Given the description of an element on the screen output the (x, y) to click on. 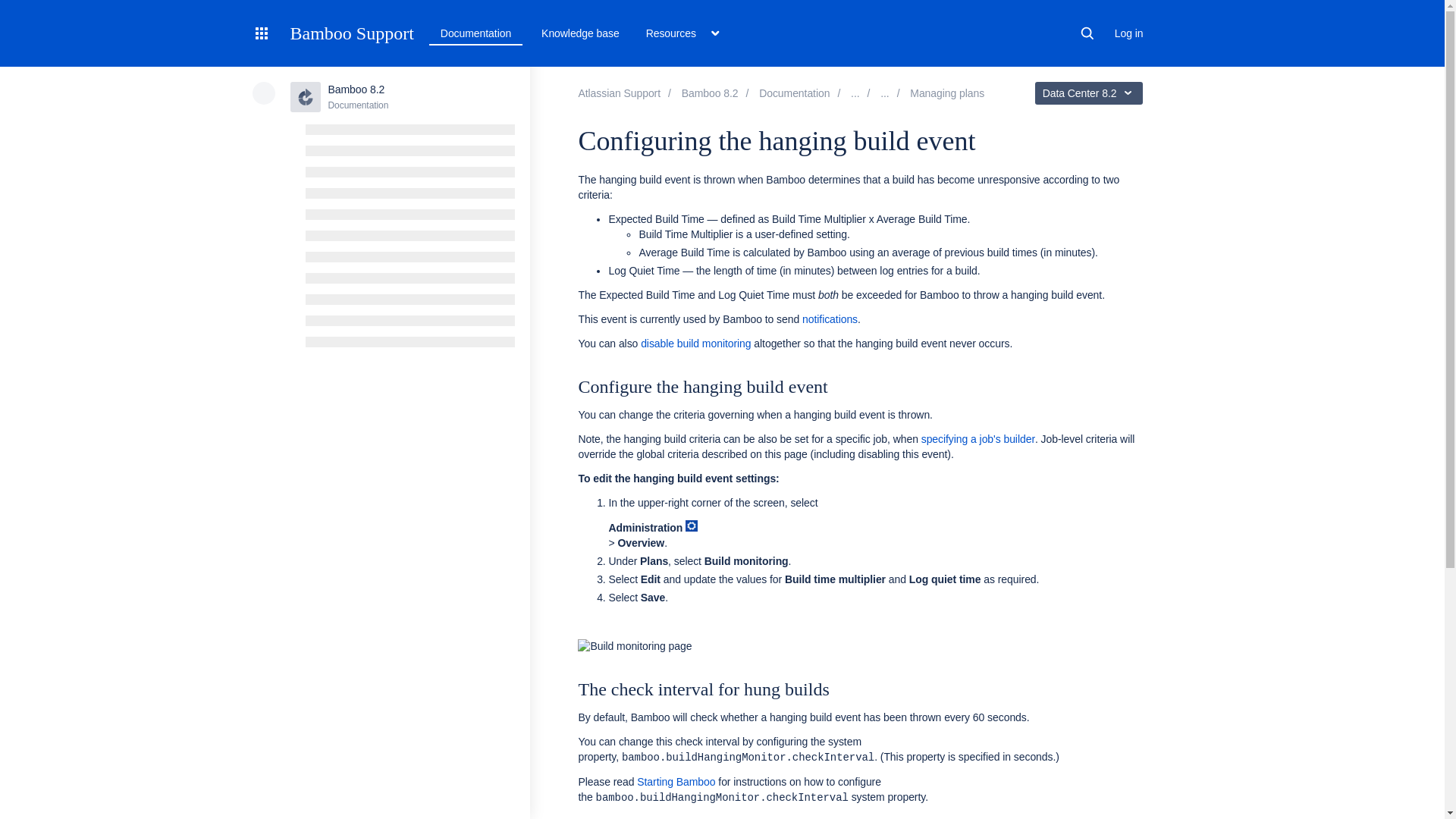
Bamboo 8.2 (793, 92)
Search (1087, 33)
Bamboo (709, 92)
Documentation (475, 33)
Knowledge base (580, 33)
Atlassian Support (619, 92)
Build monitoring page (748, 646)
Bamboo Administration icon (691, 525)
Bamboo Support (351, 33)
Log in (1128, 33)
